Given the description of an element on the screen output the (x, y) to click on. 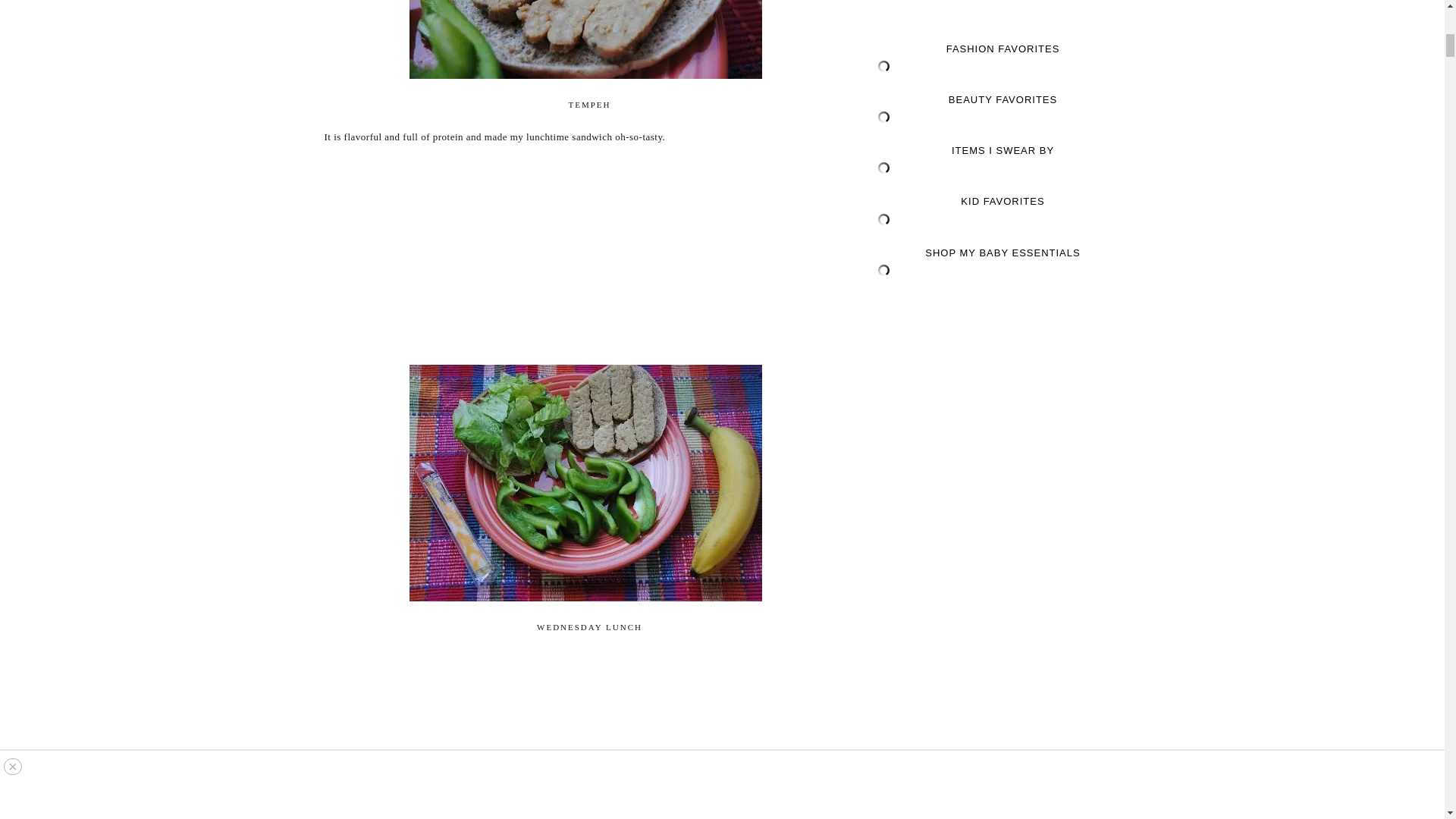
4 (585, 482)
5 (585, 39)
